Given the description of an element on the screen output the (x, y) to click on. 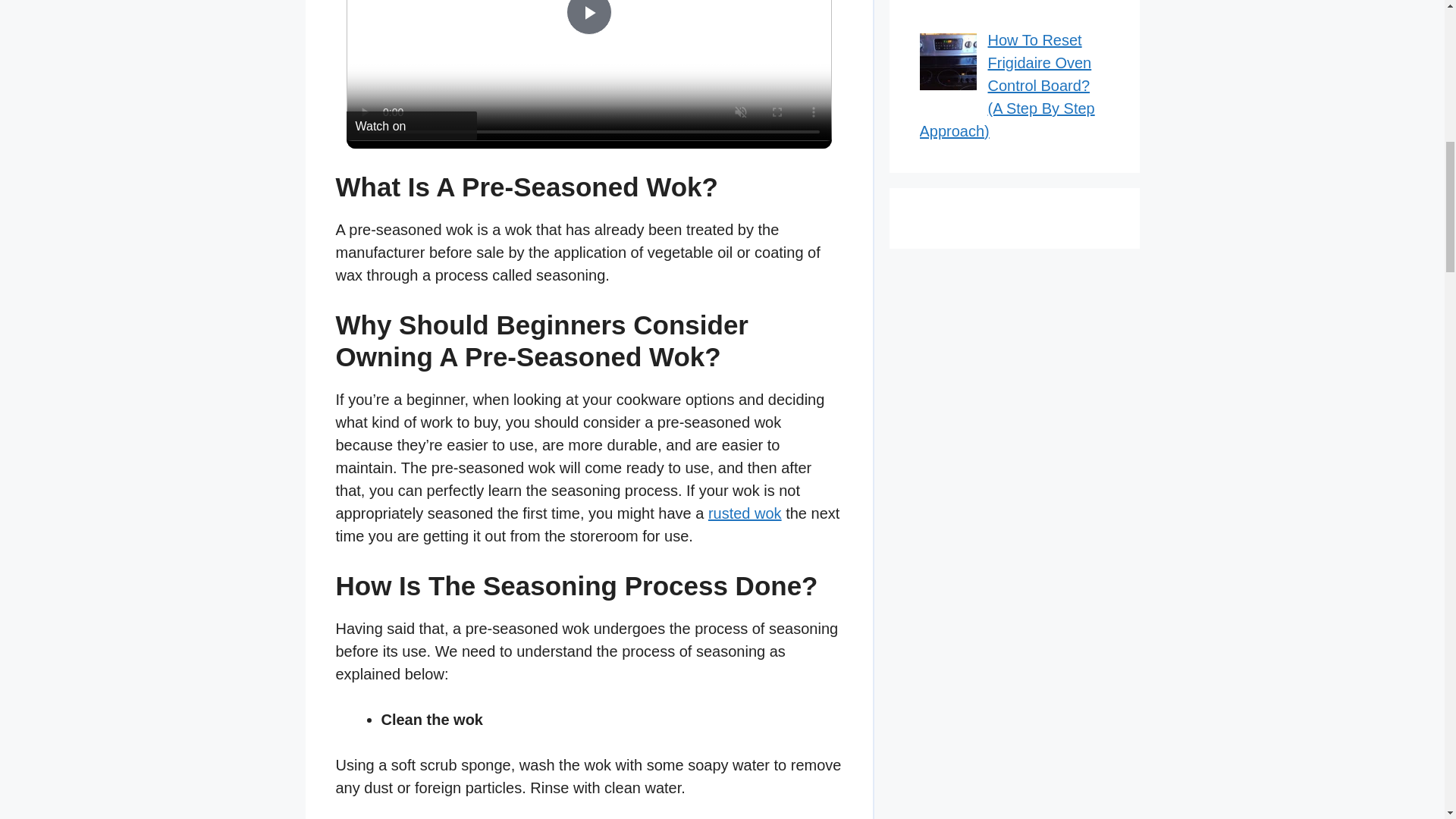
rusted wok (744, 513)
Play Video (588, 17)
Play Video (588, 17)
Watch on (411, 125)
